Given the description of an element on the screen output the (x, y) to click on. 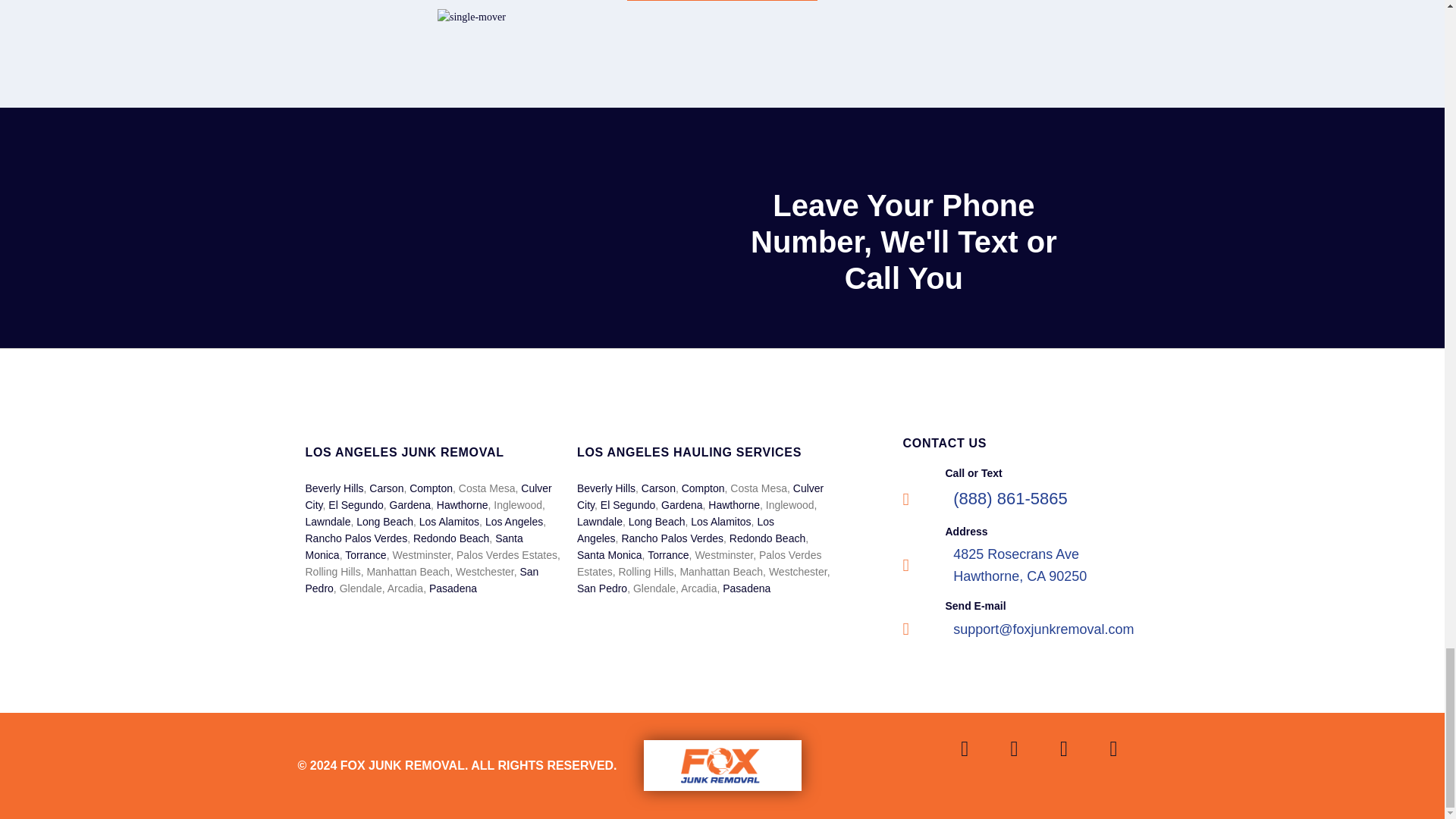
Gardena (410, 504)
Culver City (427, 496)
Beverly Hills (333, 488)
Hawthorne (461, 504)
El Segundo (355, 504)
Long Beach (384, 521)
Carson (386, 488)
Compton (430, 488)
Lawndale (327, 521)
